Given the description of an element on the screen output the (x, y) to click on. 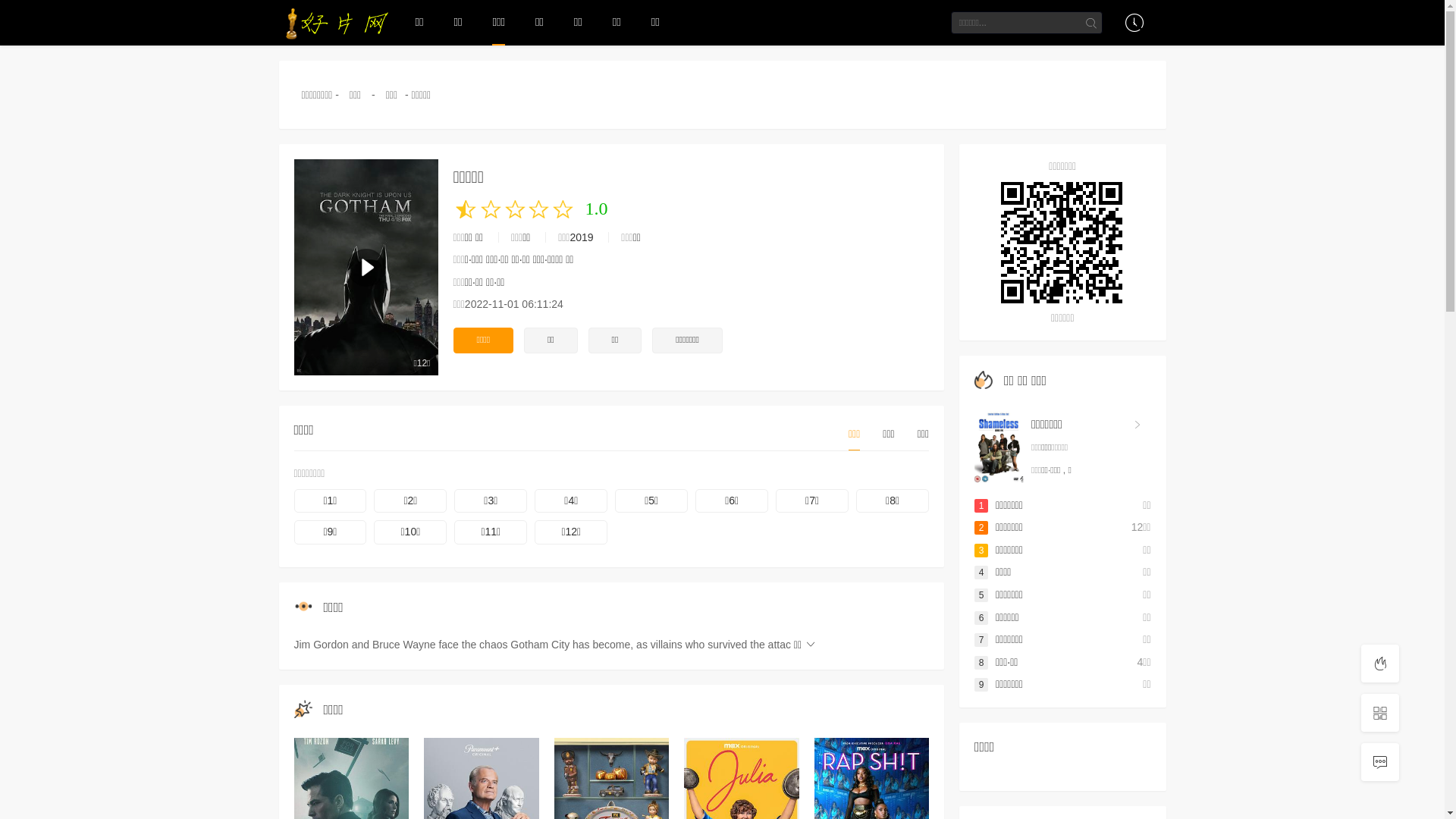
https://www.1hpw.com/vode/122.html Element type: hover (1062, 242)
2019 Element type: text (581, 237)
